Given the description of an element on the screen output the (x, y) to click on. 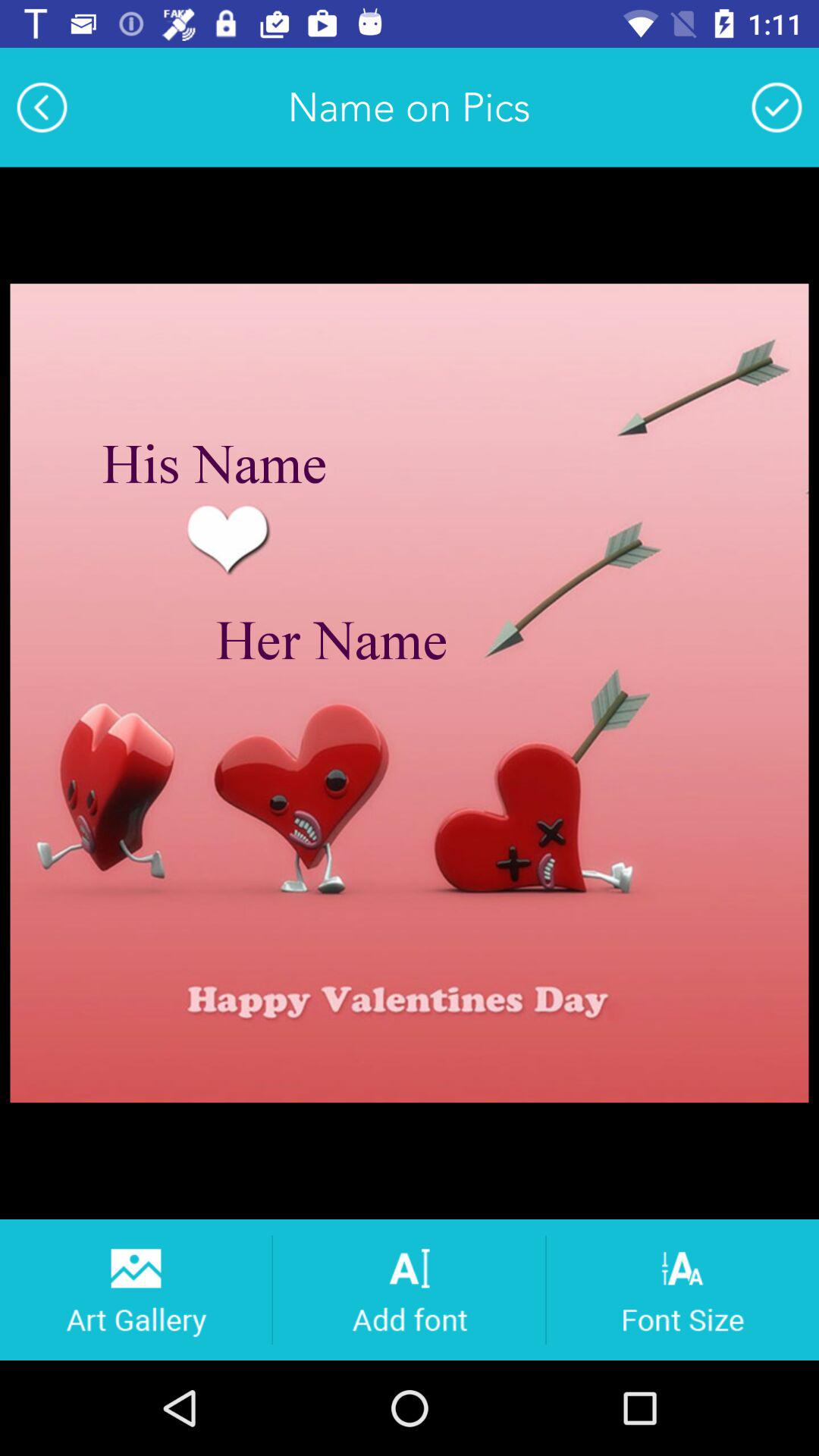
click the app to the right of the name on pics app (776, 107)
